Given the description of an element on the screen output the (x, y) to click on. 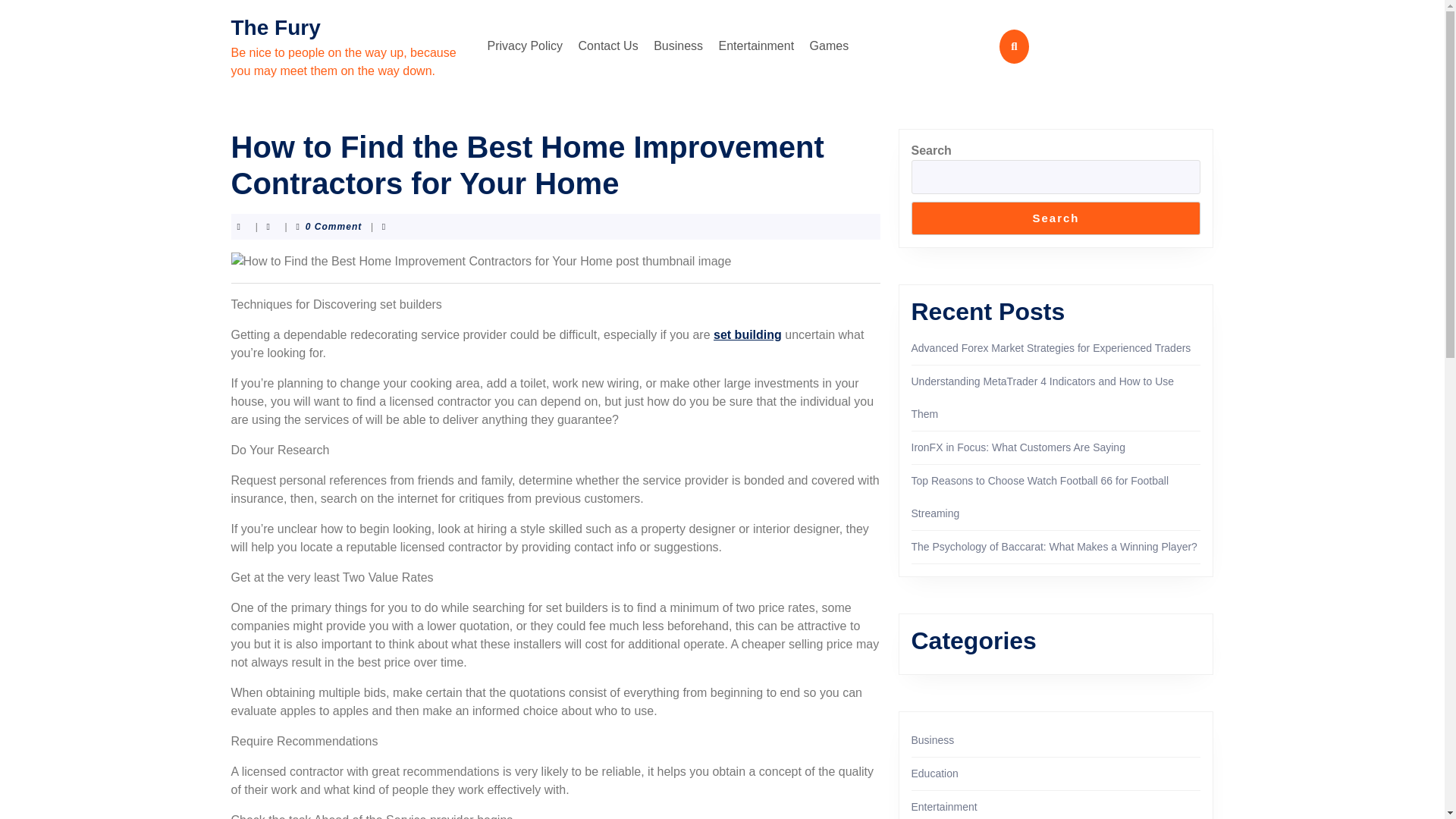
Advanced Forex Market Strategies for Experienced Traders (1051, 347)
Education (934, 773)
The Psychology of Baccarat: What Makes a Winning Player? (1053, 546)
Contact Us (608, 46)
Entertainment (756, 46)
Entertainment (943, 806)
Games (829, 46)
set building (747, 334)
Business (933, 739)
